Given the description of an element on the screen output the (x, y) to click on. 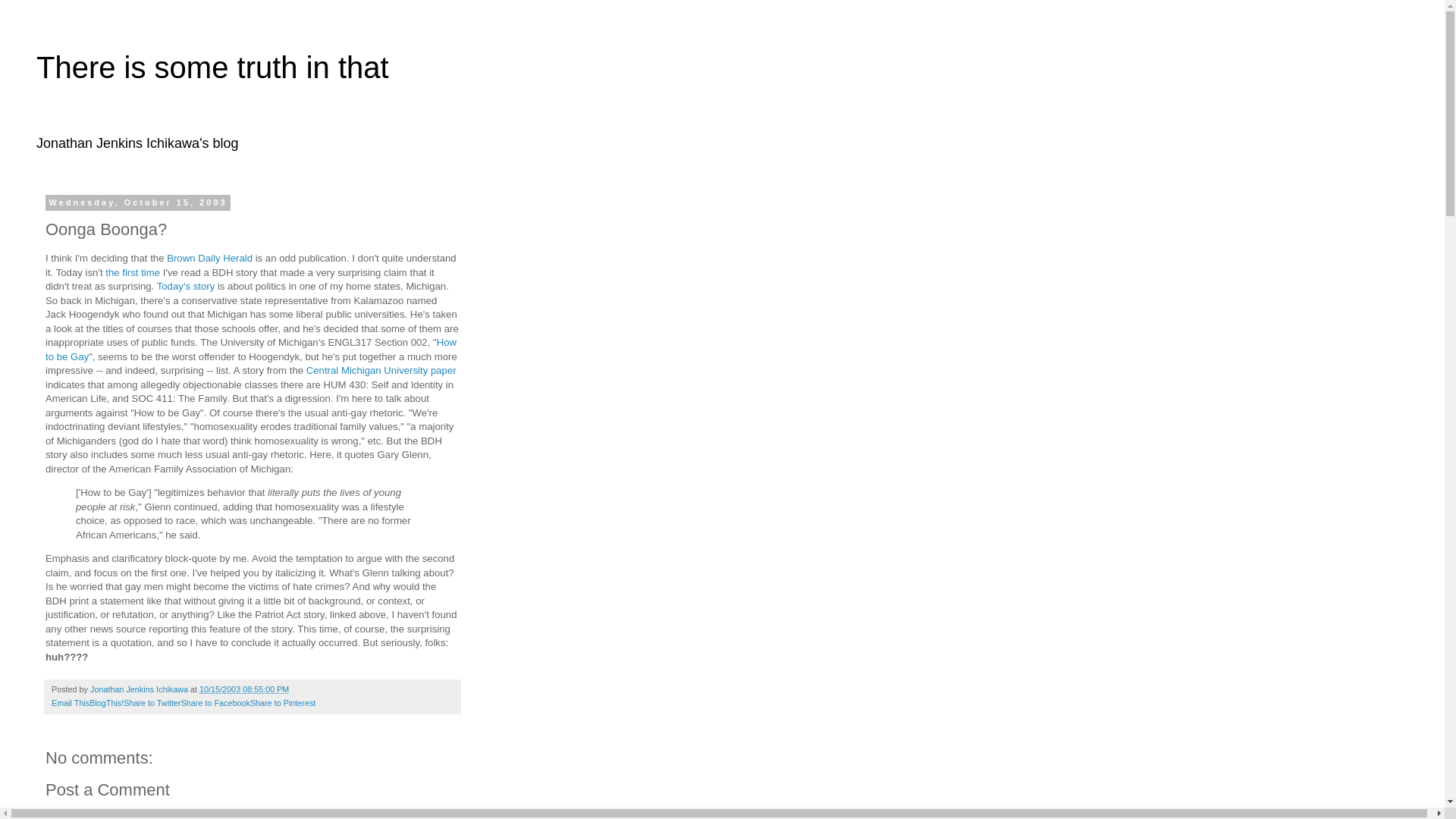
Jonathan Jenkins Ichikawa (140, 688)
BlogThis! (105, 702)
Share to Twitter (151, 702)
Email This (69, 702)
permanent link (243, 688)
author profile (140, 688)
There is some truth in that (212, 67)
BlogThis! (105, 702)
Share to Pinterest (282, 702)
Central Michigan University paper (381, 369)
Brown Daily Herald (209, 257)
Today's story (186, 285)
the first time (132, 272)
Share to Twitter (151, 702)
Share to Facebook (215, 702)
